Given the description of an element on the screen output the (x, y) to click on. 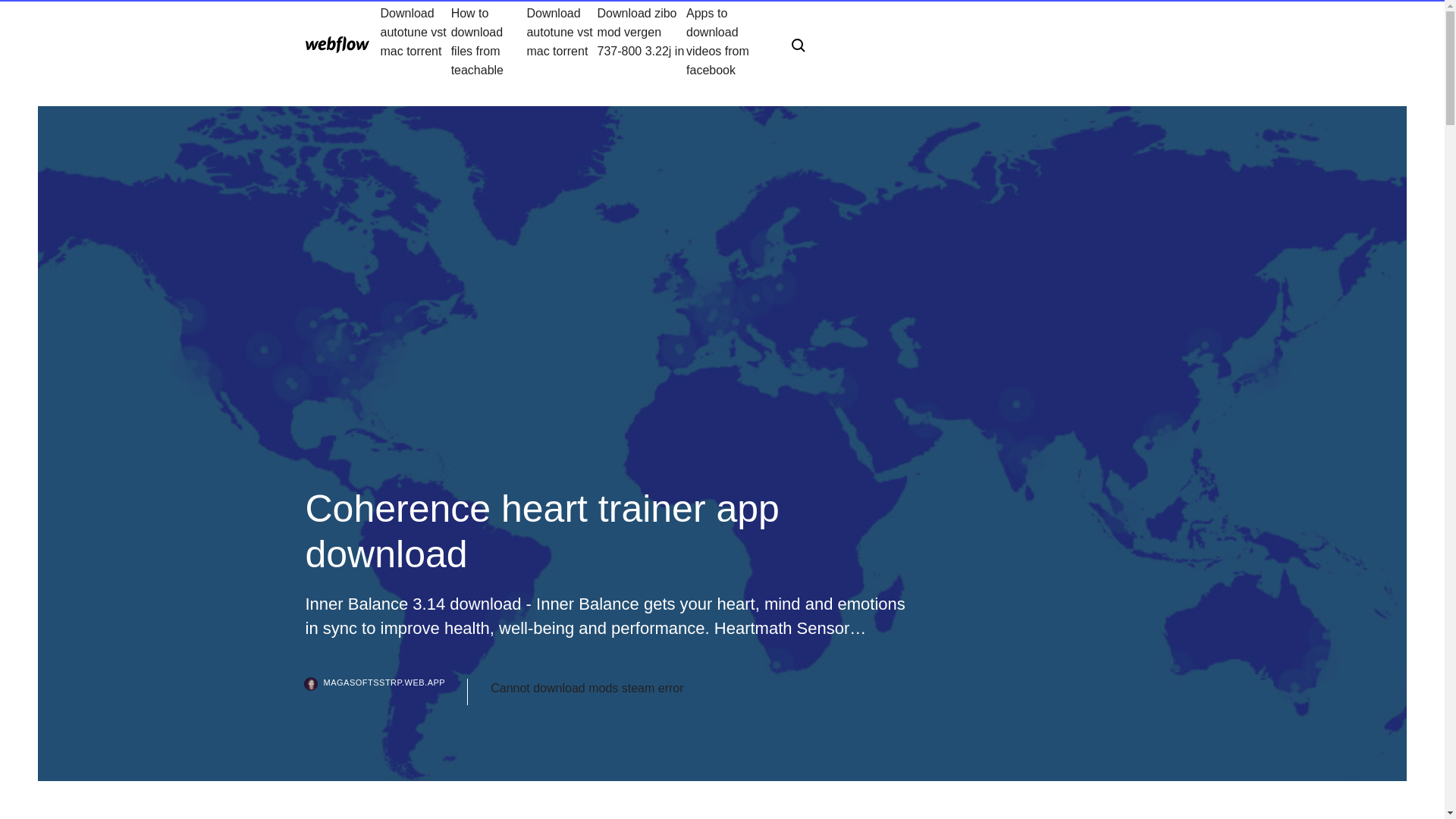
Download autotune vst mac torrent (560, 41)
Download autotune vst mac torrent (415, 41)
Cannot download mods steam error (586, 687)
MAGASOFTSSTRP.WEB.APP (385, 691)
Download zibo mod vergen 737-800 3.22j in (641, 41)
How to download files from teachable (489, 41)
Apps to download videos from facebook (726, 41)
